Given the description of an element on the screen output the (x, y) to click on. 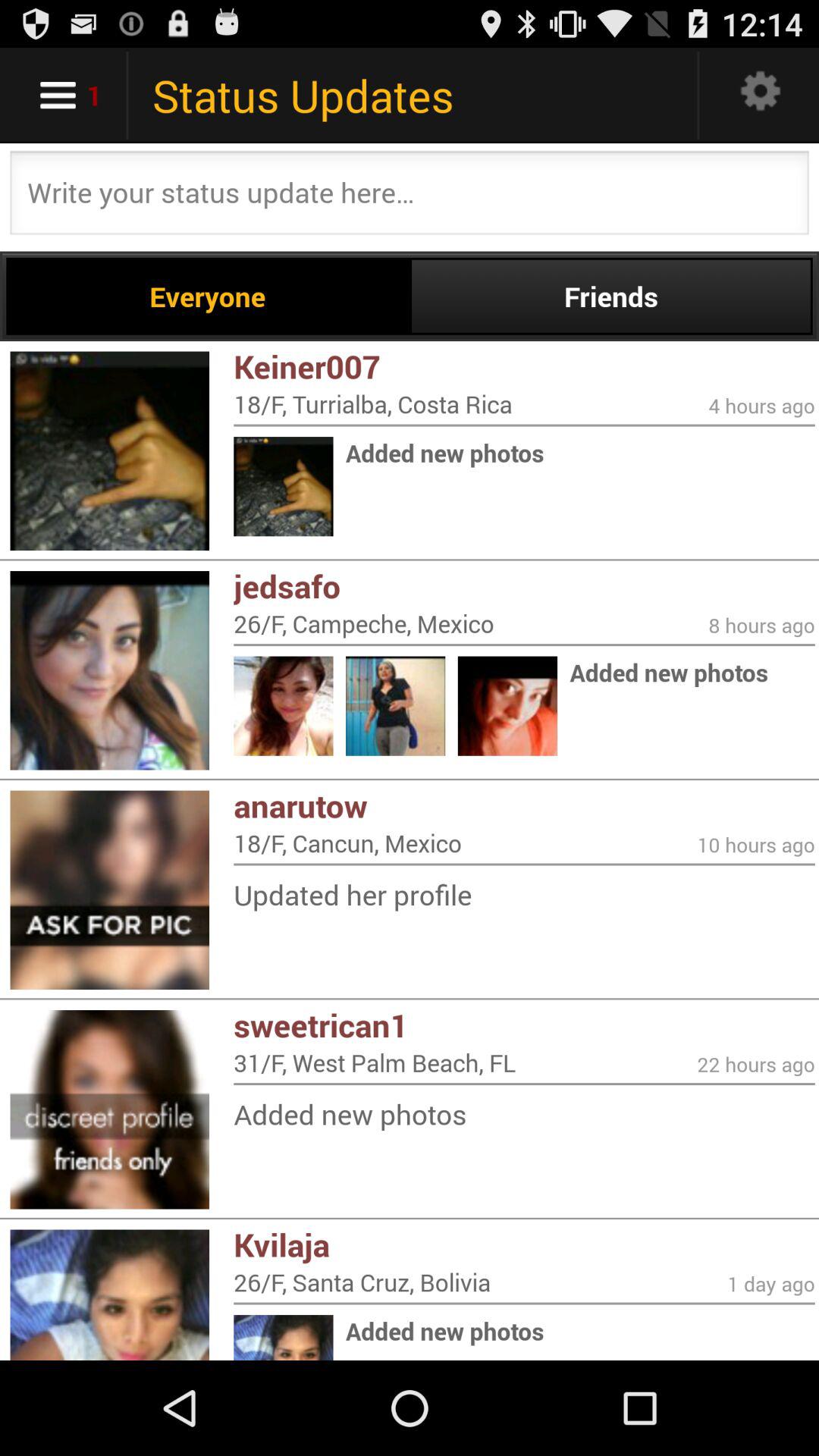
swipe until the everyone icon (207, 295)
